Given the description of an element on the screen output the (x, y) to click on. 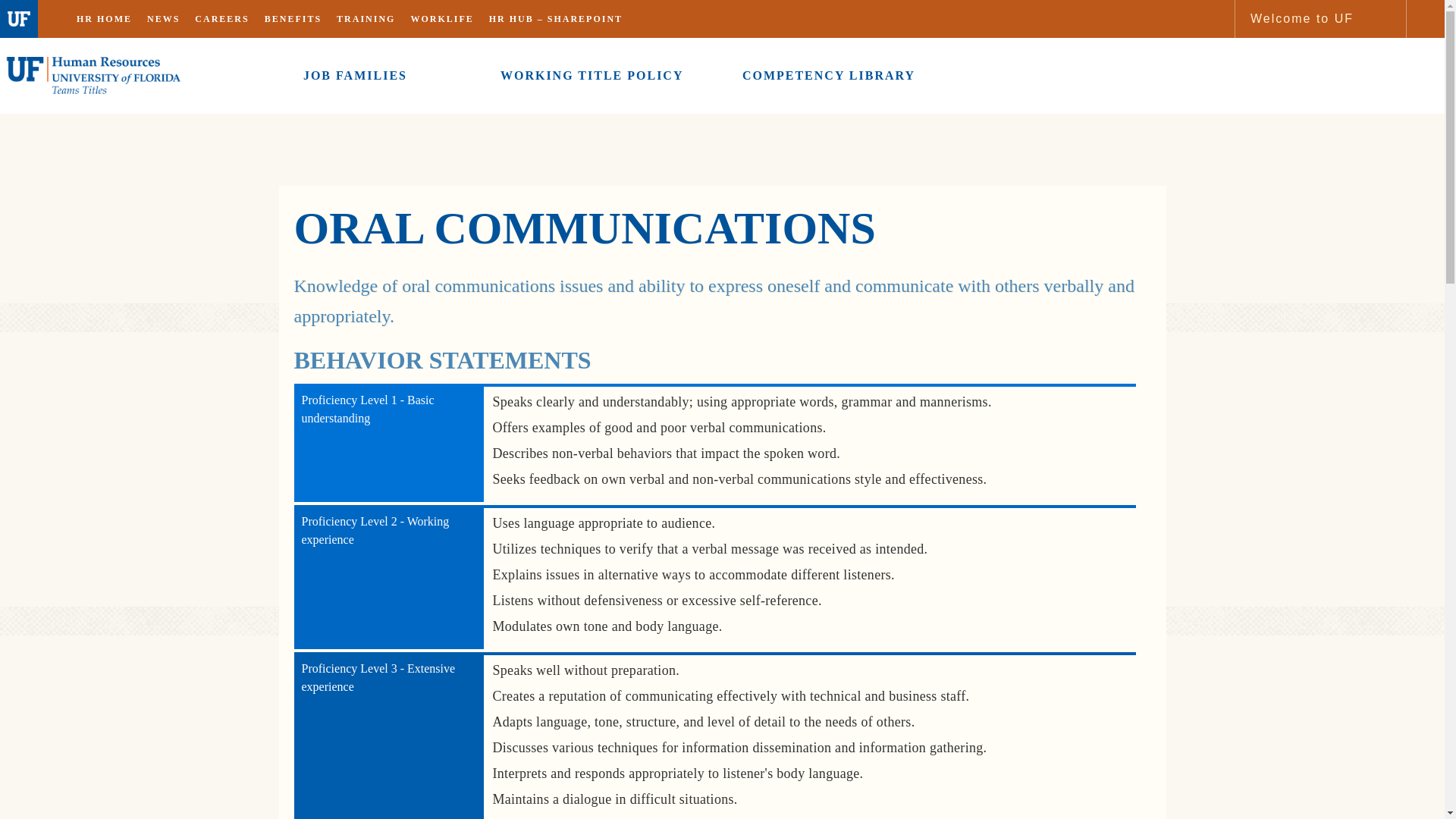
WORKLIFE (441, 18)
WORKING TITLE POLICY (592, 75)
BENEFITS (293, 18)
Welcome to UF (1301, 18)
NEWS (163, 18)
COMPETENCY LIBRARY (828, 75)
JOB FAMILIES (354, 75)
TRAINING (366, 18)
CAREERS (221, 18)
HR HOME (103, 18)
